Given the description of an element on the screen output the (x, y) to click on. 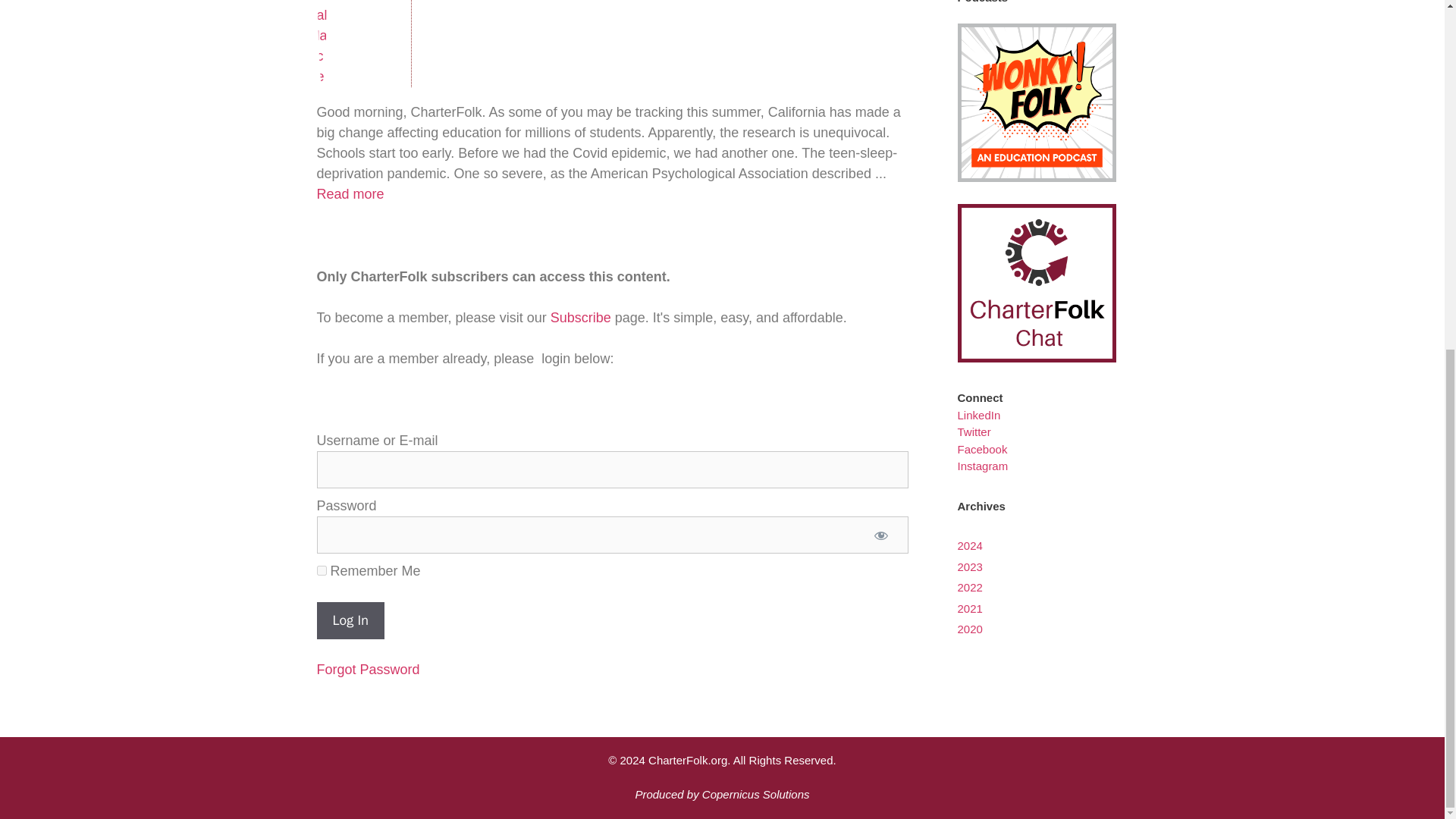
Read more (350, 193)
LinkedIn (979, 414)
2024 (970, 545)
forever (321, 570)
Forgot Password (368, 669)
Instagram (983, 465)
2021 (970, 608)
Log In (350, 620)
Jed Wallace (360, 43)
2023 (970, 566)
2020 (970, 628)
Log In (350, 620)
Twitter (974, 431)
Copernicus Solutions (755, 793)
Subscribe (580, 317)
